Given the description of an element on the screen output the (x, y) to click on. 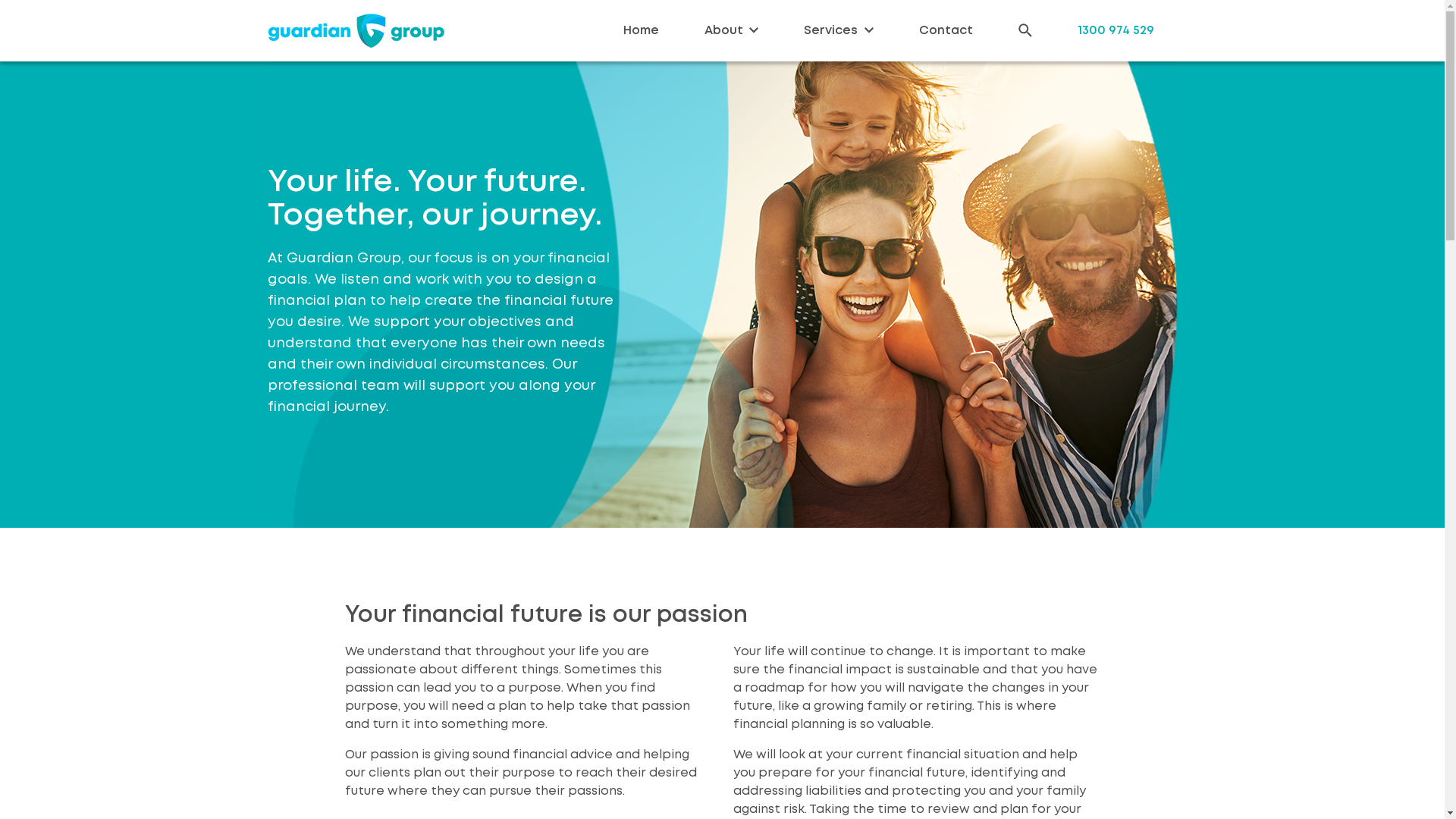
1300 974 529 Element type: text (1115, 30)
About Element type: text (731, 30)
Home Element type: text (640, 30)
Contact Element type: text (945, 30)
Services Element type: text (838, 30)
